Given the description of an element on the screen output the (x, y) to click on. 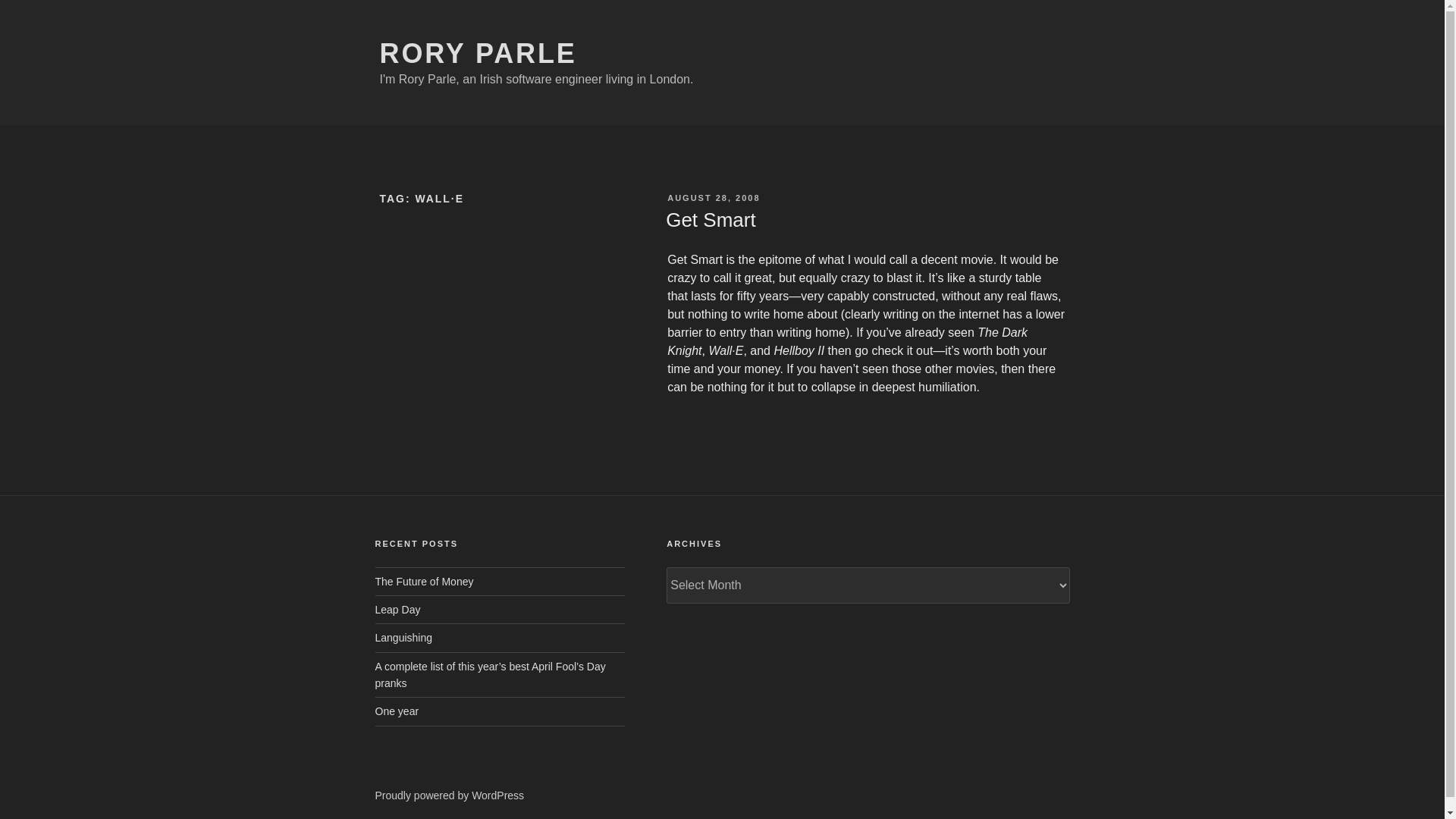
Proudly powered by WordPress (449, 795)
RORY PARLE (477, 52)
Leap Day (397, 609)
One year (396, 711)
Get Smart (710, 219)
The Future of Money (423, 581)
Languishing (403, 637)
AUGUST 28, 2008 (713, 197)
